Given the description of an element on the screen output the (x, y) to click on. 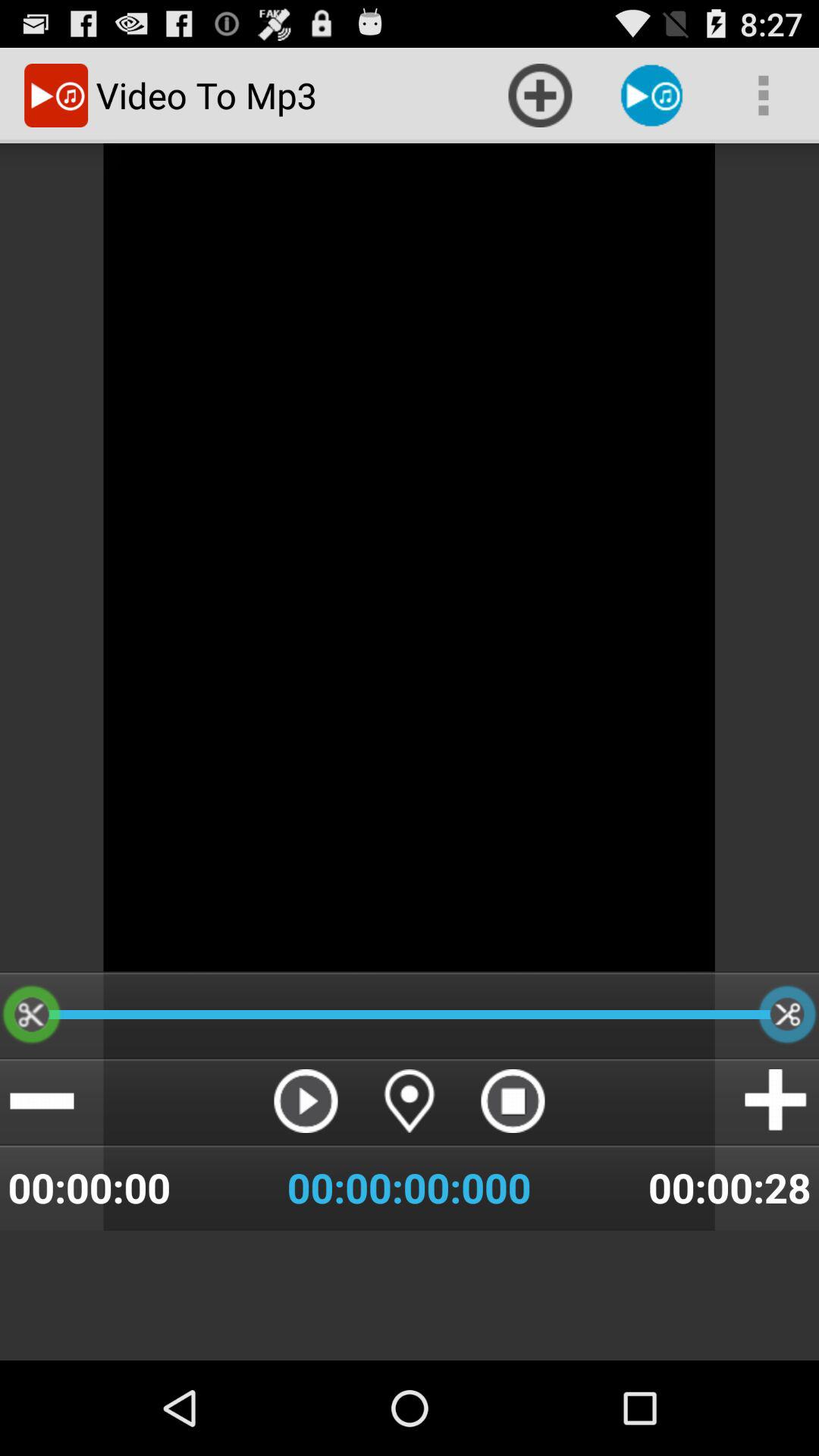
turn on the item above the 00:00:28 app (776, 1100)
